Given the description of an element on the screen output the (x, y) to click on. 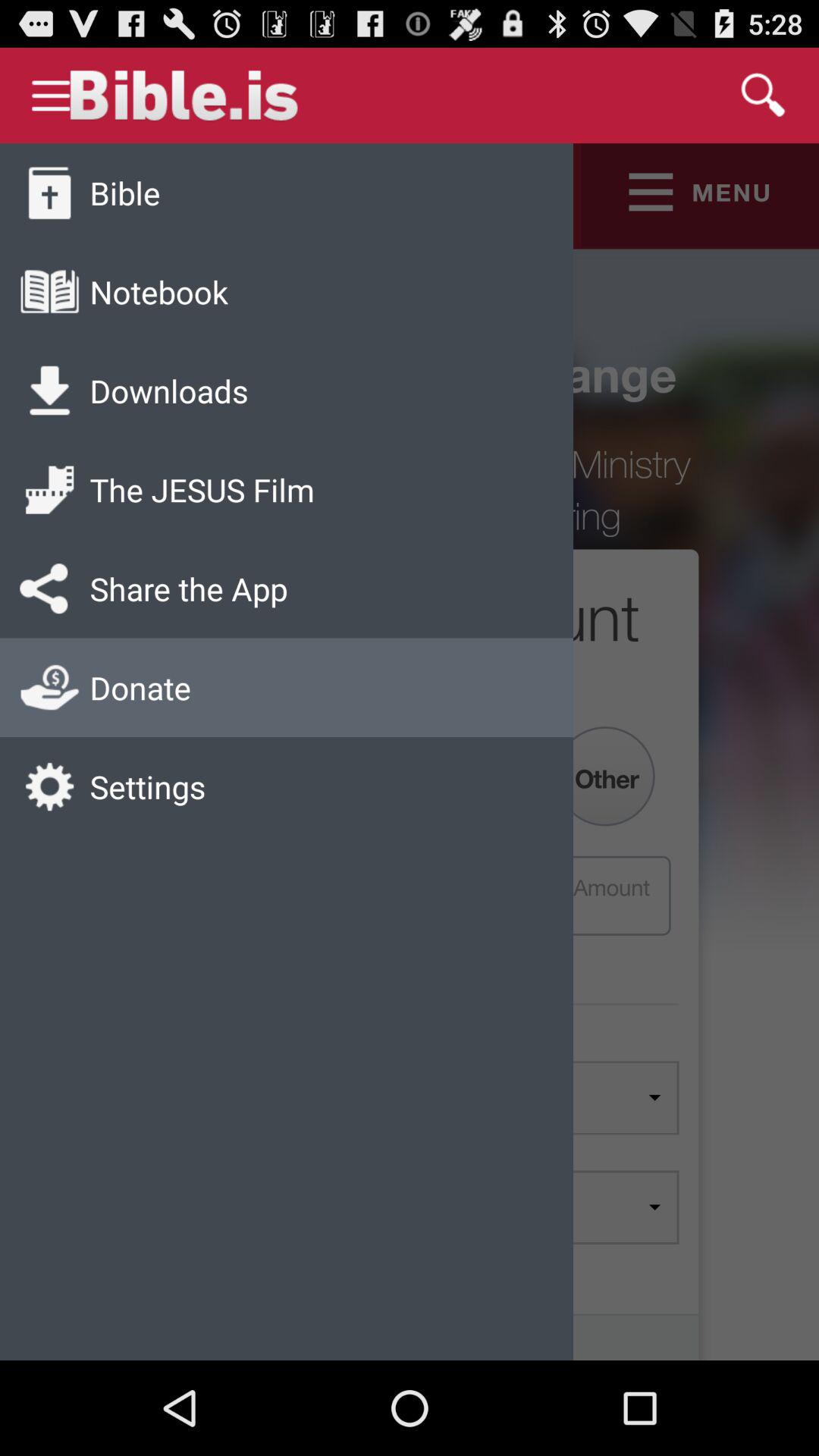
press item below the downloads (201, 489)
